Given the description of an element on the screen output the (x, y) to click on. 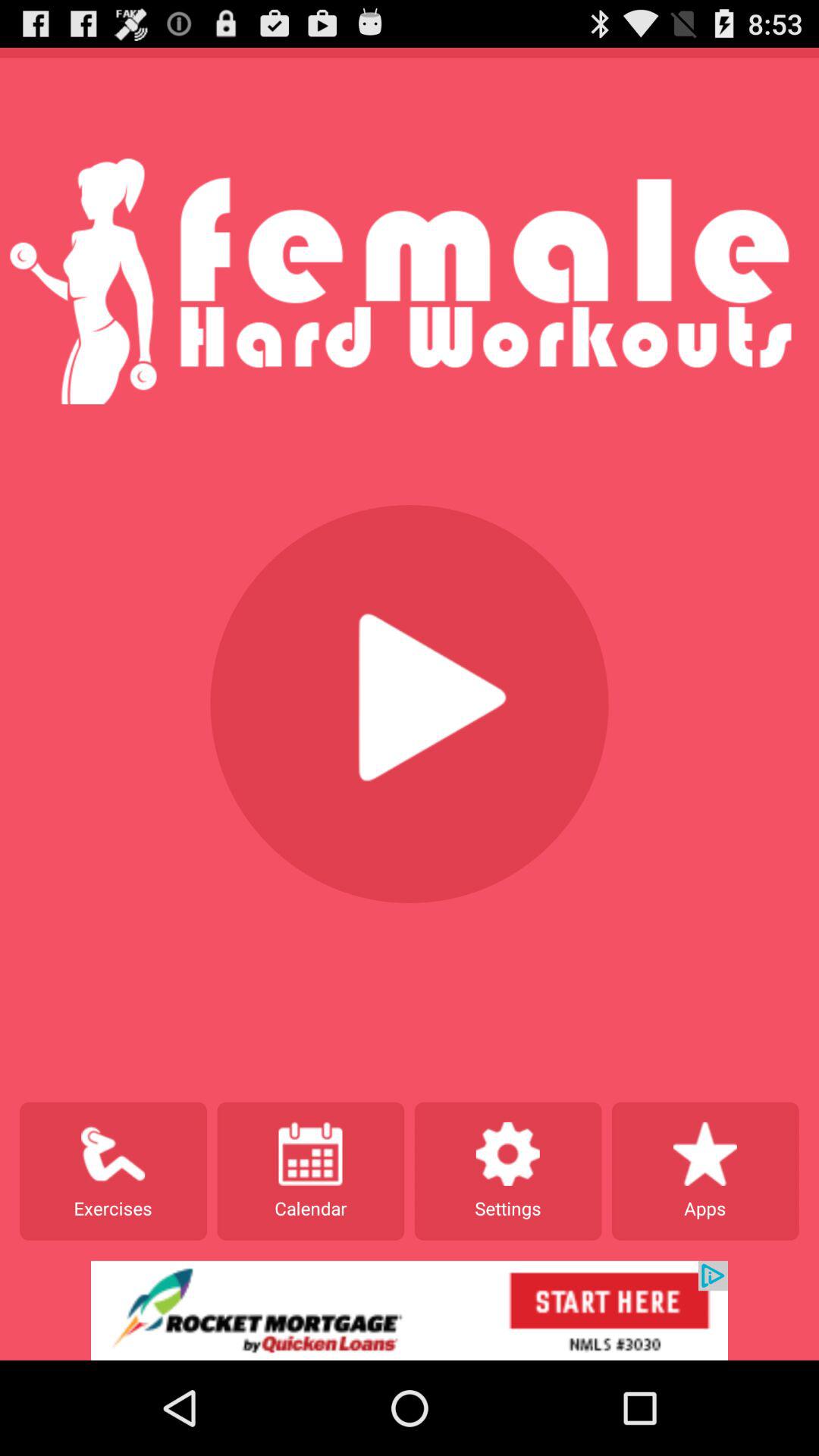
play option (409, 704)
